Given the description of an element on the screen output the (x, y) to click on. 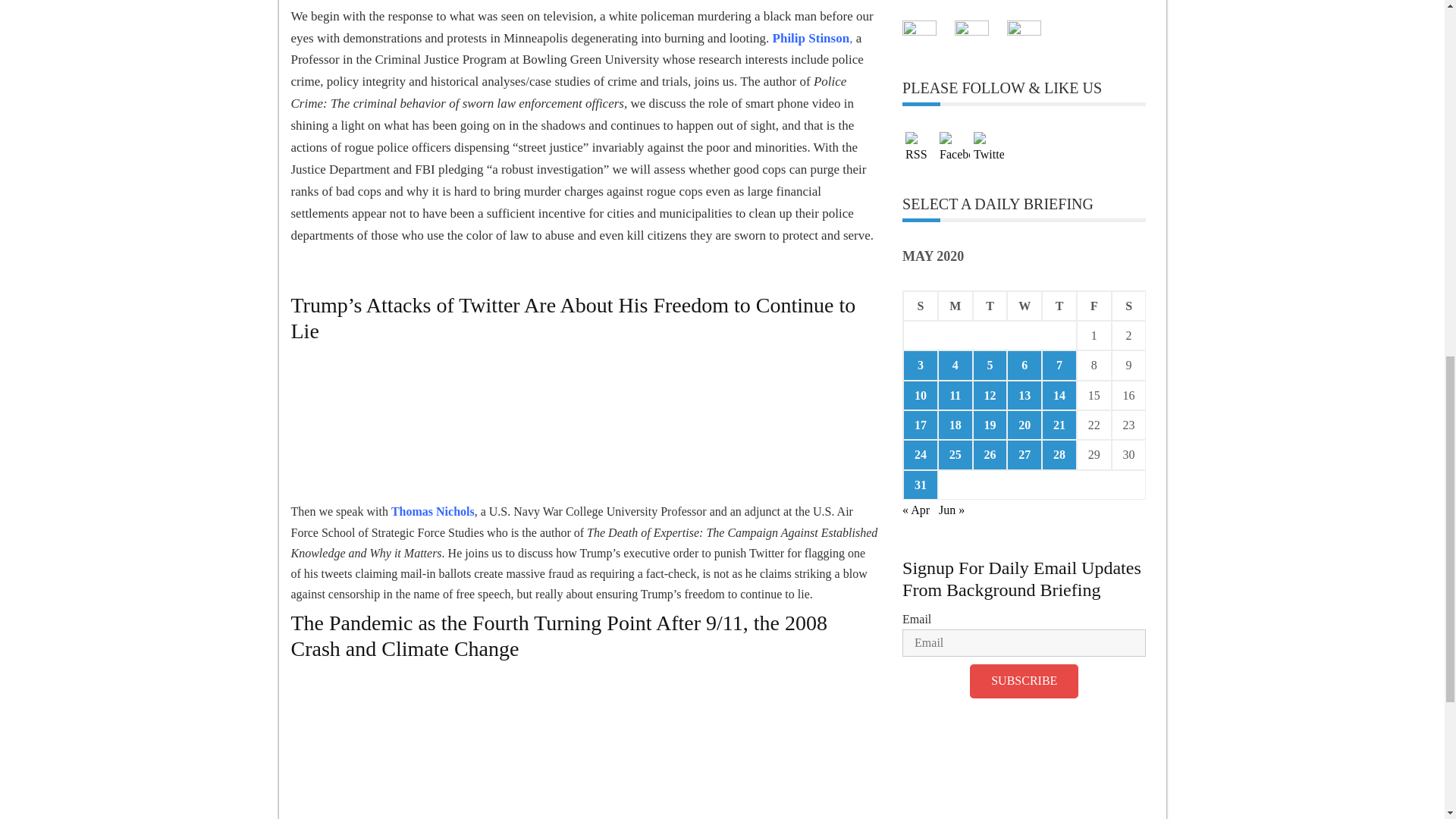
Facebook (954, 147)
Thomas Nichols (432, 511)
RSS (920, 147)
Wednesday (1024, 306)
Friday (1094, 306)
Twitter (989, 147)
Thursday (1059, 306)
Monday (954, 306)
Saturday (1129, 306)
Tuesday (989, 306)
